Given the description of an element on the screen output the (x, y) to click on. 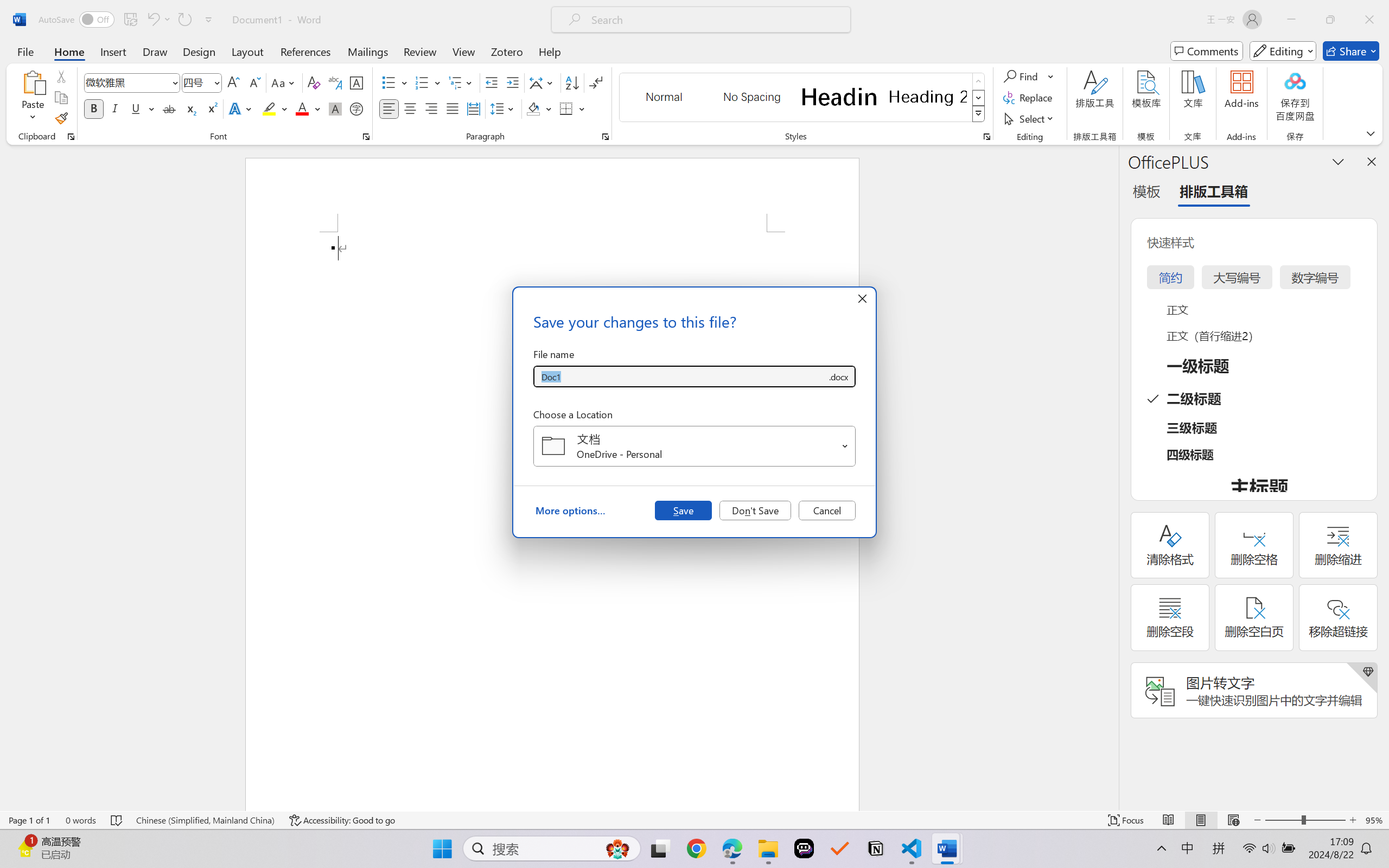
Repeat Style (184, 19)
Choose a Location (694, 446)
